Given the description of an element on the screen output the (x, y) to click on. 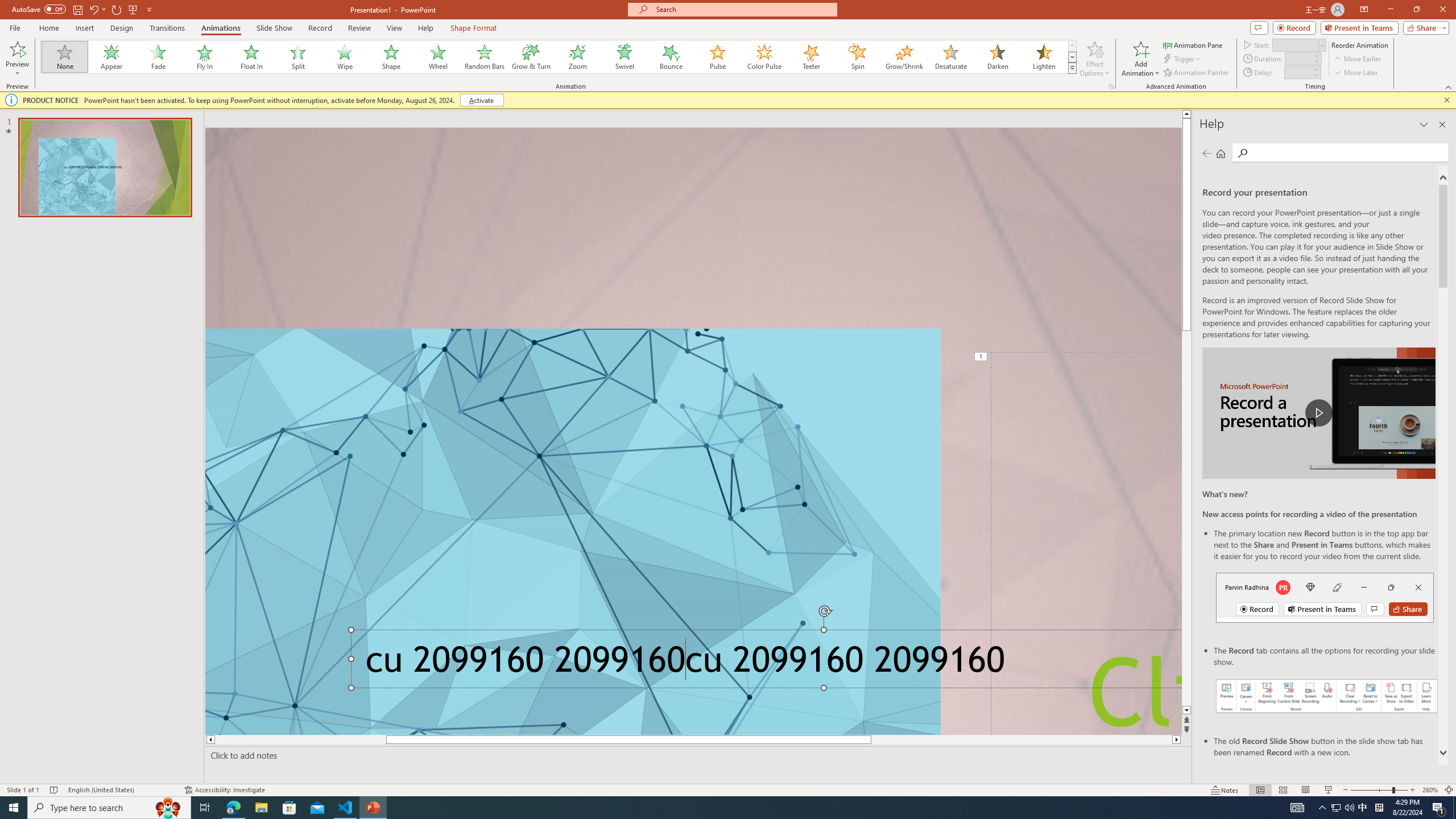
Teeter (810, 56)
Shape (391, 56)
Page down (1186, 612)
Animation, sequence 1, on Title 1 (981, 357)
Animation Pane (1193, 44)
